Given the description of an element on the screen output the (x, y) to click on. 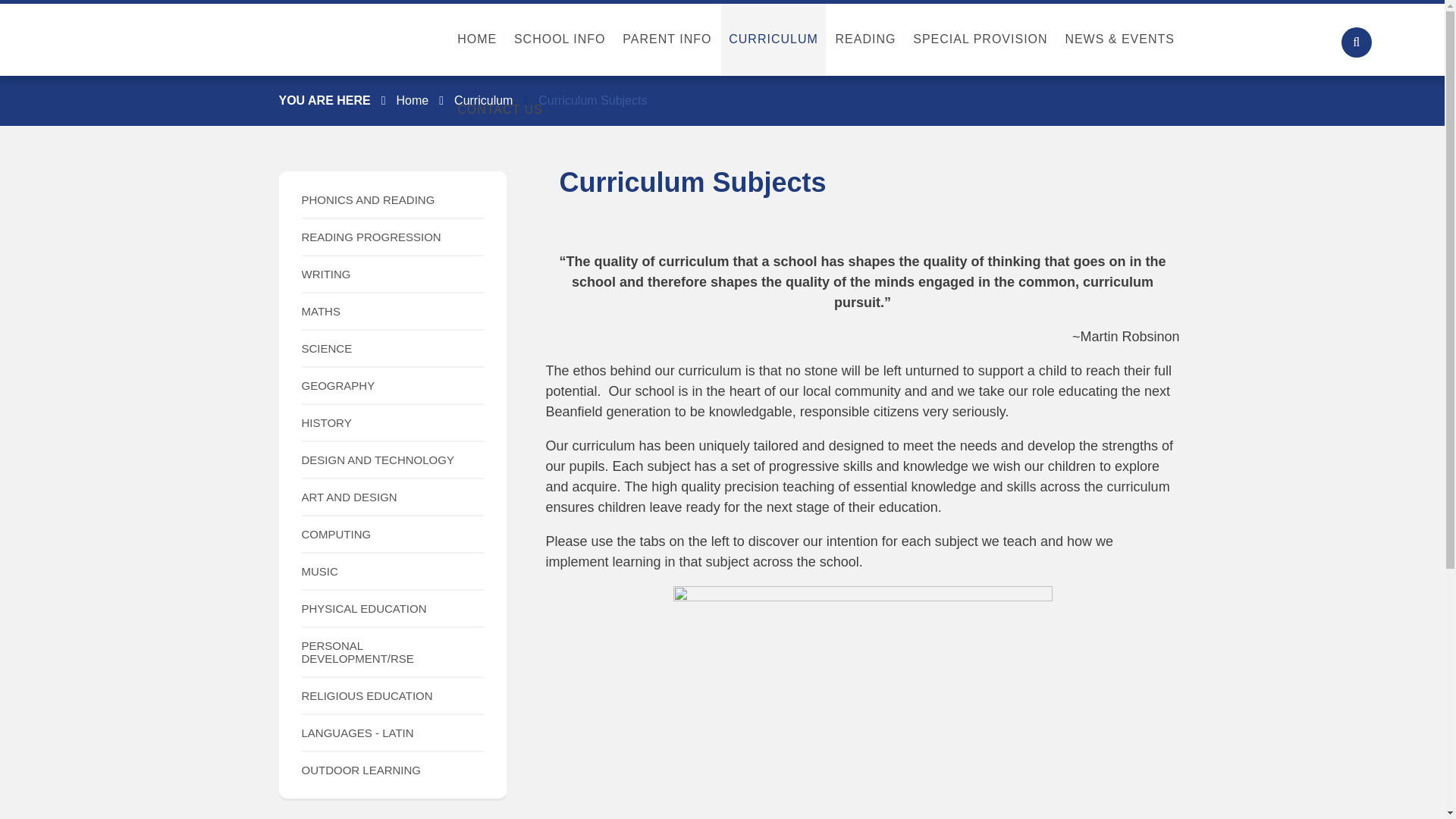
SCHOOL INFO (559, 39)
HOME (477, 39)
Beanfield Primary School (101, 40)
